Given the description of an element on the screen output the (x, y) to click on. 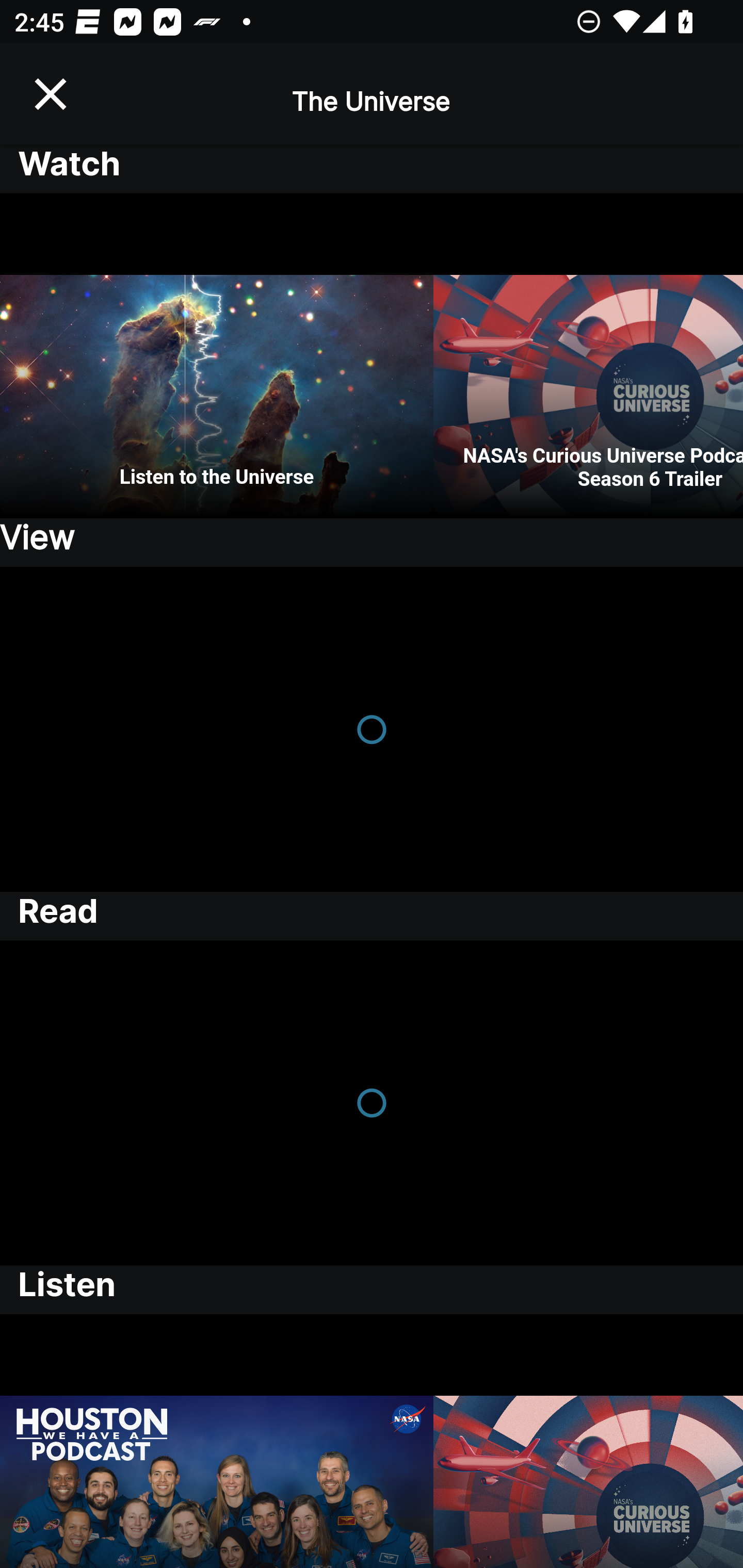
Listen to the Universe (216, 355)
